Given the description of an element on the screen output the (x, y) to click on. 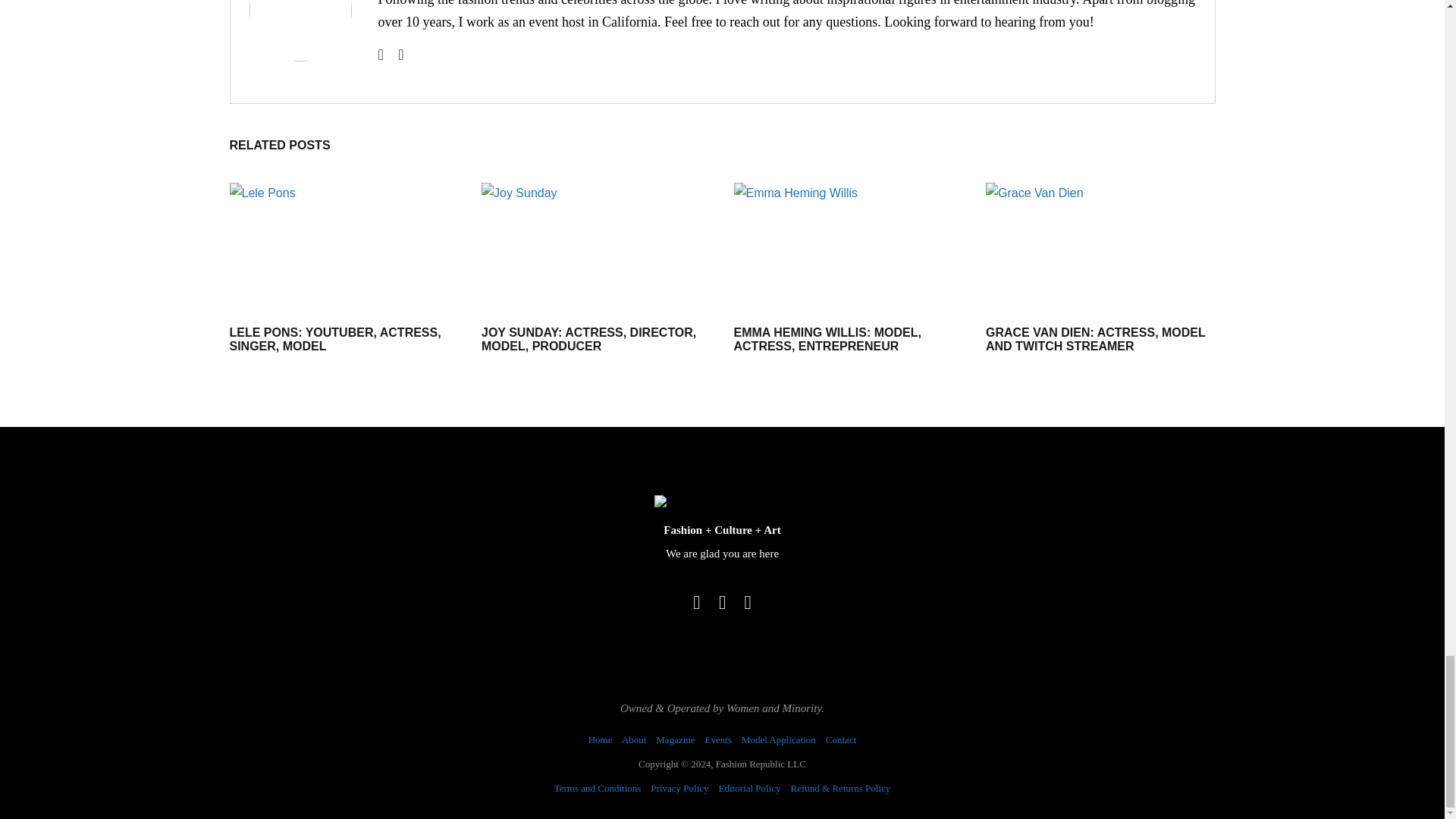
Grace Van Dien: Actress, Model and Twitch Streamer (1095, 338)
Lele Pons: YouTuber, Actress, Singer, Model (334, 338)
Emma Heming Willis: Model, Actress, Entrepreneur (848, 247)
Grace Van Dien: Actress, Model and Twitch Streamer (1100, 247)
Emma Heming Willis: Model, Actress, Entrepreneur (827, 338)
Joy Sunday: Actress, Director, Model, Producer (588, 338)
Joy Sunday: Actress, Director, Model, Producer (596, 247)
Reign Judge: Model, Entrepreneur, Influencer (305, 30)
Lele Pons: YouTuber, Actress, Singer, Model (343, 247)
